Given the description of an element on the screen output the (x, y) to click on. 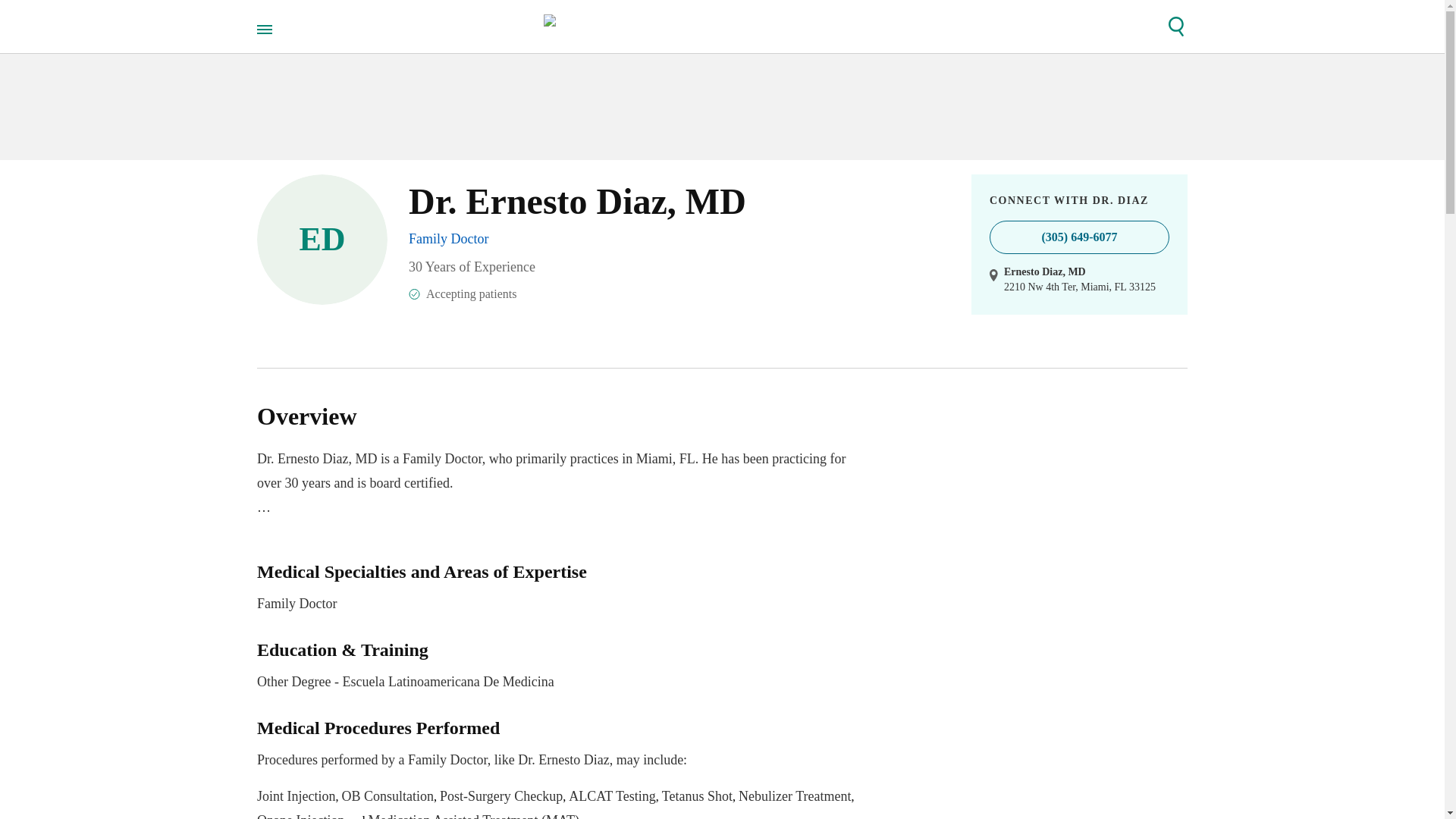
Ozone Injection (560, 588)
ALCAT Testing (300, 816)
Family Doctor (612, 795)
Post-Surgery Checkup (449, 238)
Joint Injection (500, 795)
Tetanus Shot (295, 795)
OB Consultation (697, 795)
Nebulizer Treatment (386, 795)
